Given the description of an element on the screen output the (x, y) to click on. 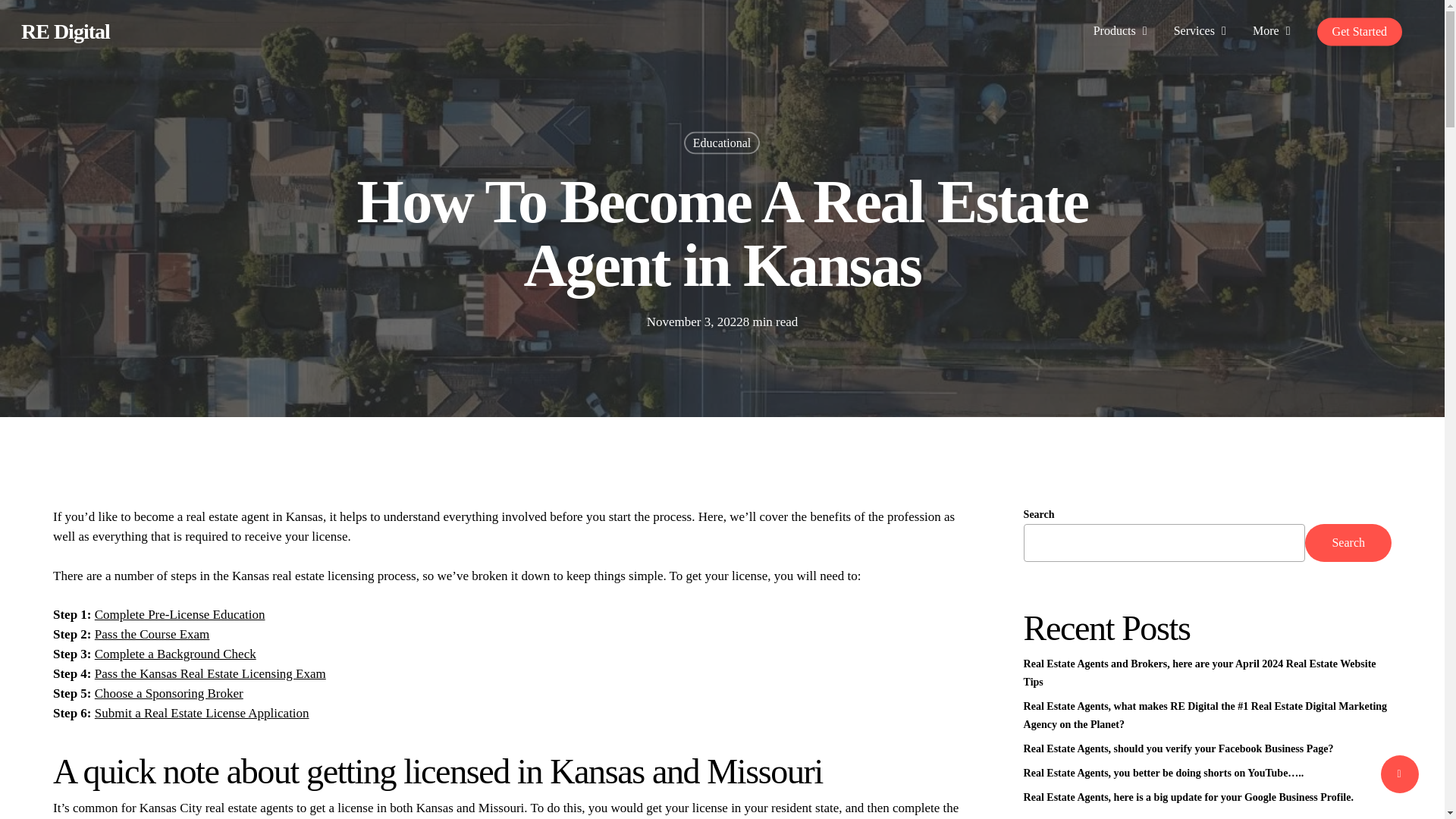
Choose a Sponsoring Broker (168, 693)
More (1273, 31)
Educational (722, 142)
Pass the Kansas Real Estate Licensing Exam (210, 673)
Pass the Course Exam (151, 634)
Get Started (1359, 31)
Products (1122, 31)
Services (1201, 31)
Complete a Background Check (175, 653)
Submit a Real Estate License Application (201, 712)
Search (1347, 542)
RE Digital (65, 31)
Complete Pre-License Education (179, 614)
